Given the description of an element on the screen output the (x, y) to click on. 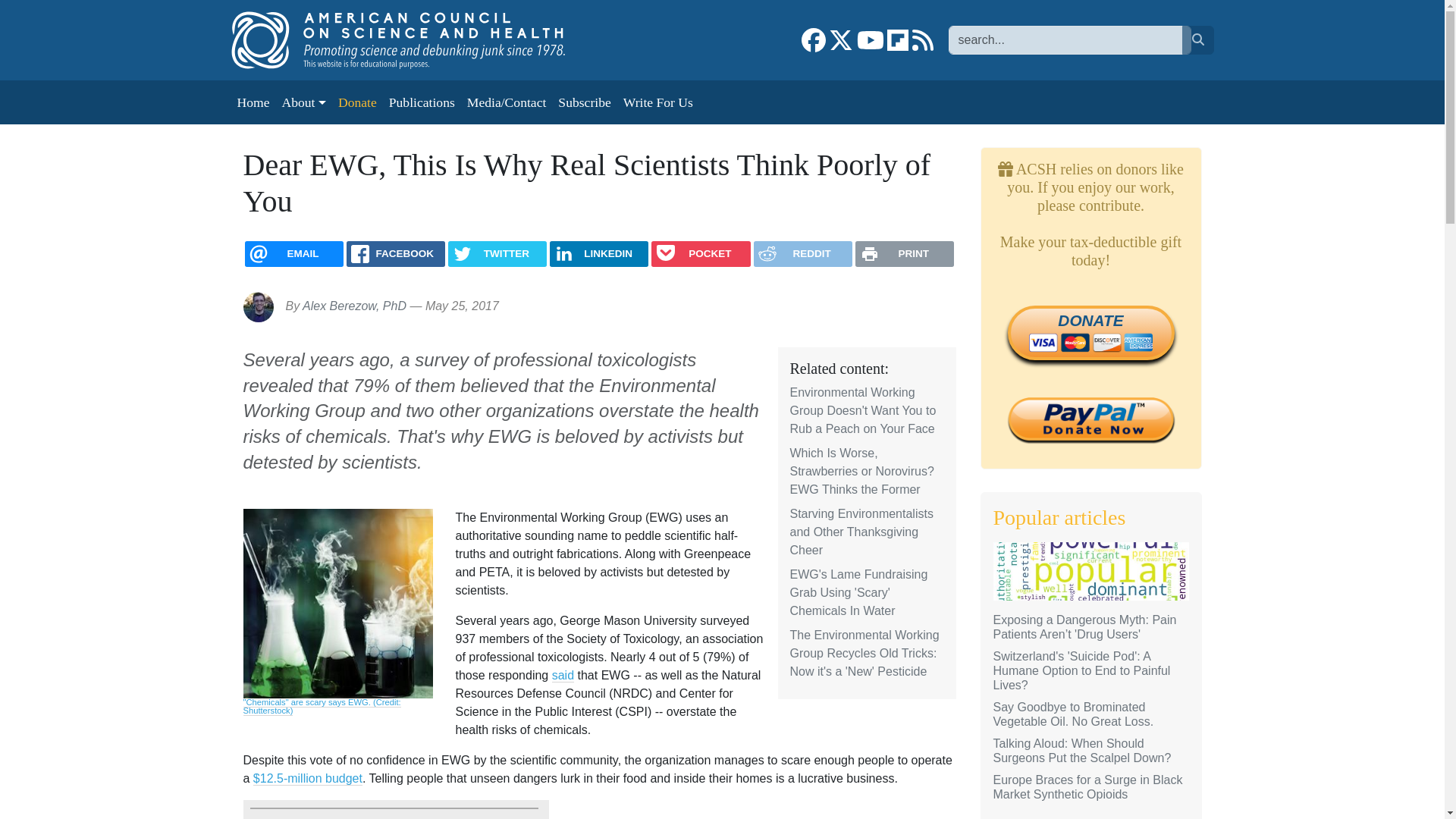
TWITTER (497, 253)
Donate (356, 101)
Starving Environmentalists and Other Thanksgiving Cheer (861, 531)
Write For Us (657, 101)
REDDIT (802, 253)
Publications (421, 101)
Home (413, 39)
POCKET (699, 253)
Skip to main content (60, 10)
Home (252, 101)
Expand menu About (303, 101)
search (1196, 39)
